Given the description of an element on the screen output the (x, y) to click on. 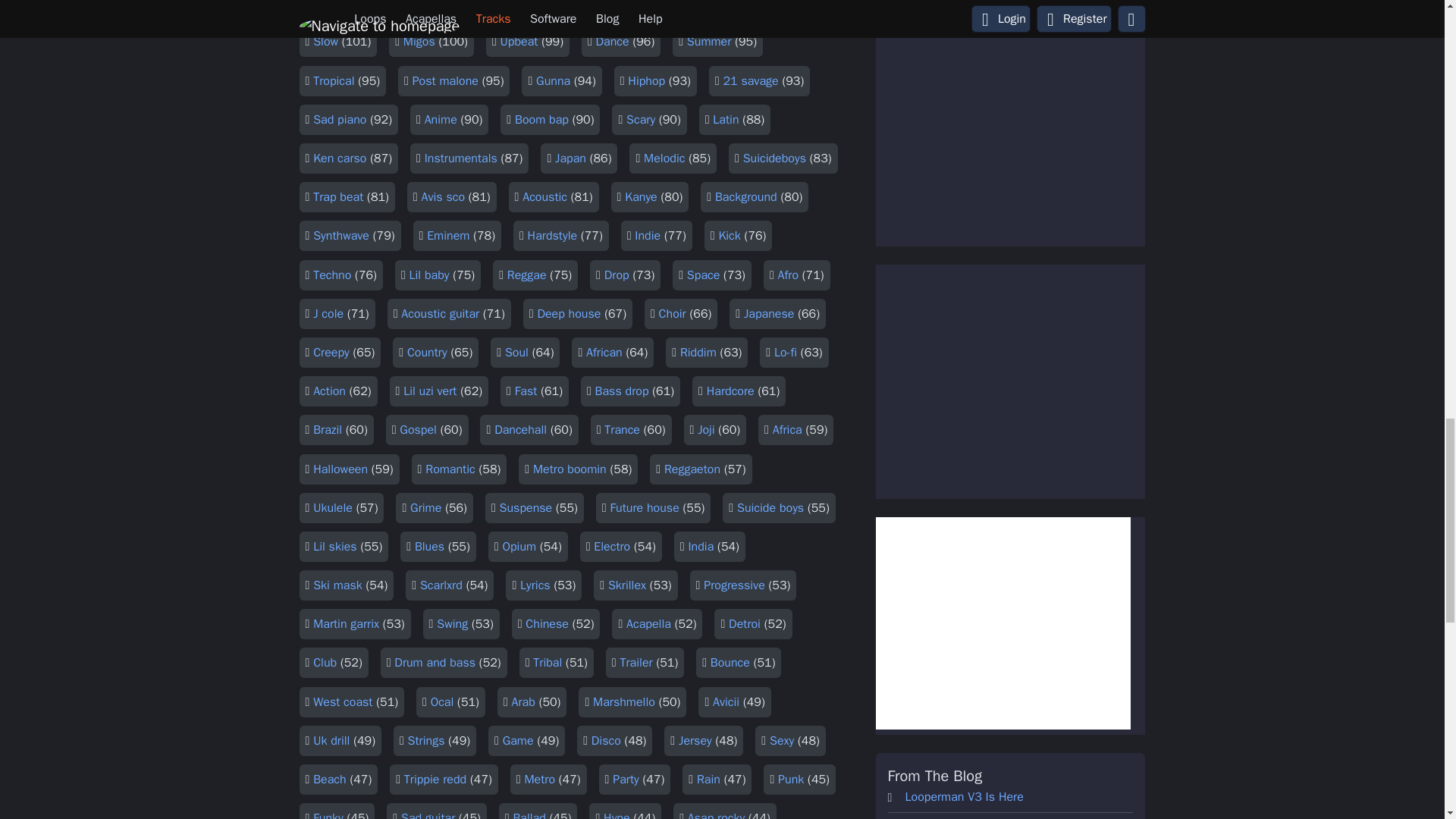
Advertisement (1002, 622)
